Given the description of an element on the screen output the (x, y) to click on. 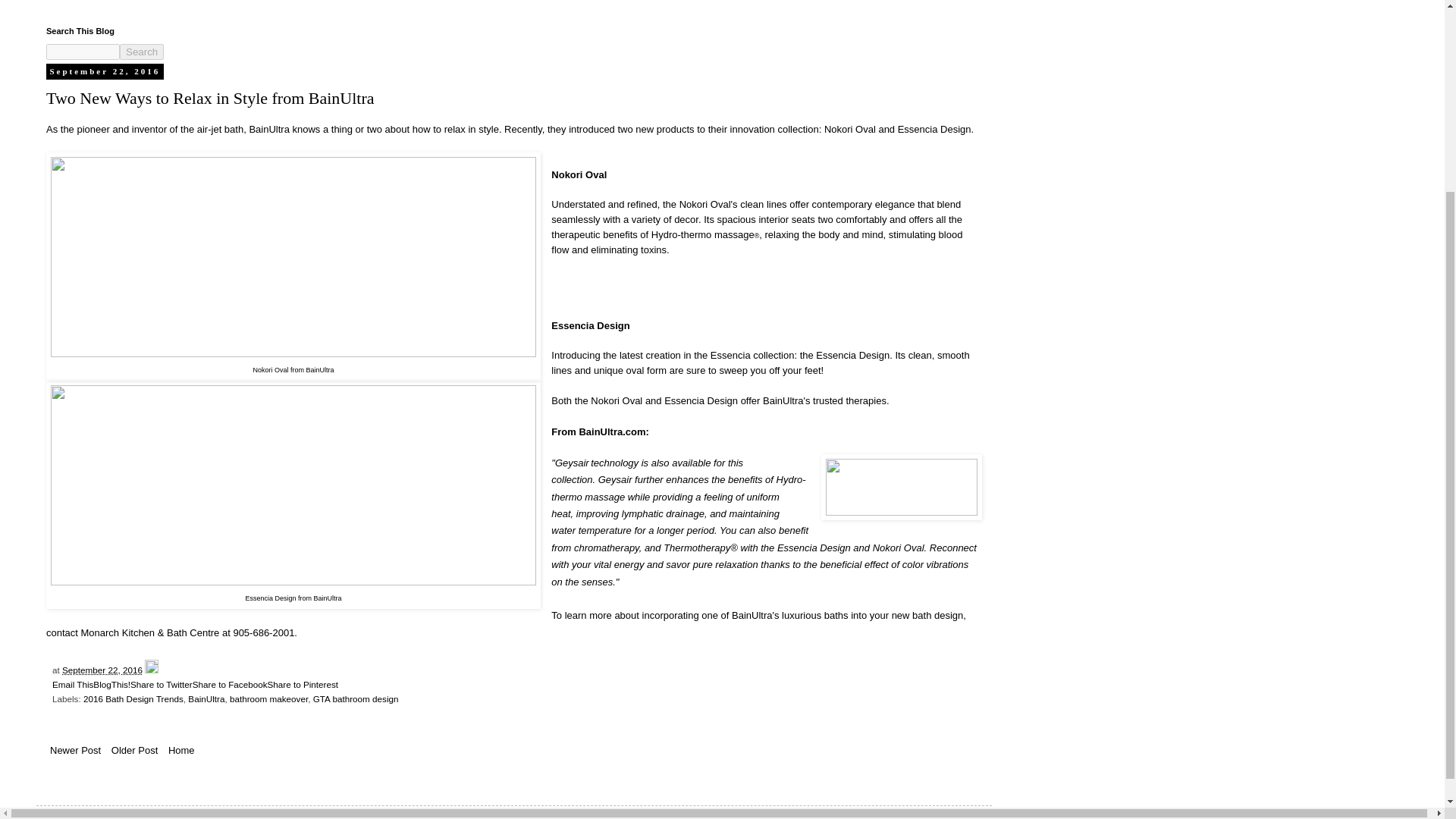
Share to Twitter (161, 684)
GTA bathroom design (355, 698)
2016 Bath Design Trends (132, 698)
September 22, 2016 (102, 669)
Older Post (134, 750)
Share to Facebook (229, 684)
Newer Post (75, 750)
Share to Pinterest (301, 684)
BlogThis! (112, 684)
Newer Post (75, 750)
Search (141, 51)
Email This (72, 684)
bathroom makeover (268, 698)
Home (181, 750)
Email This (72, 684)
